Given the description of an element on the screen output the (x, y) to click on. 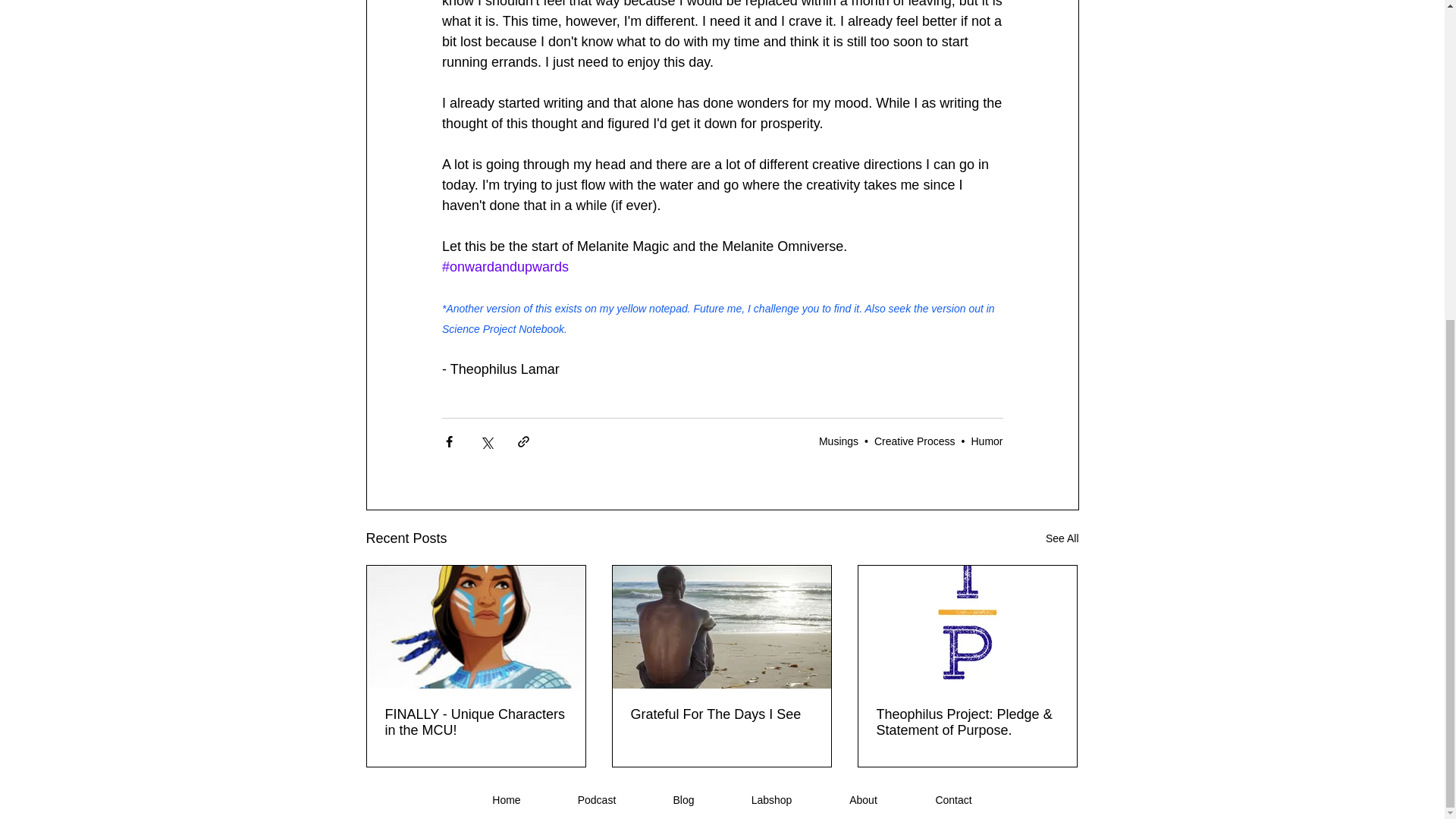
FINALLY - Unique Characters in the MCU! (476, 722)
Musings (838, 440)
See All (1061, 538)
Humor (987, 440)
Creative Process (915, 440)
